Given the description of an element on the screen output the (x, y) to click on. 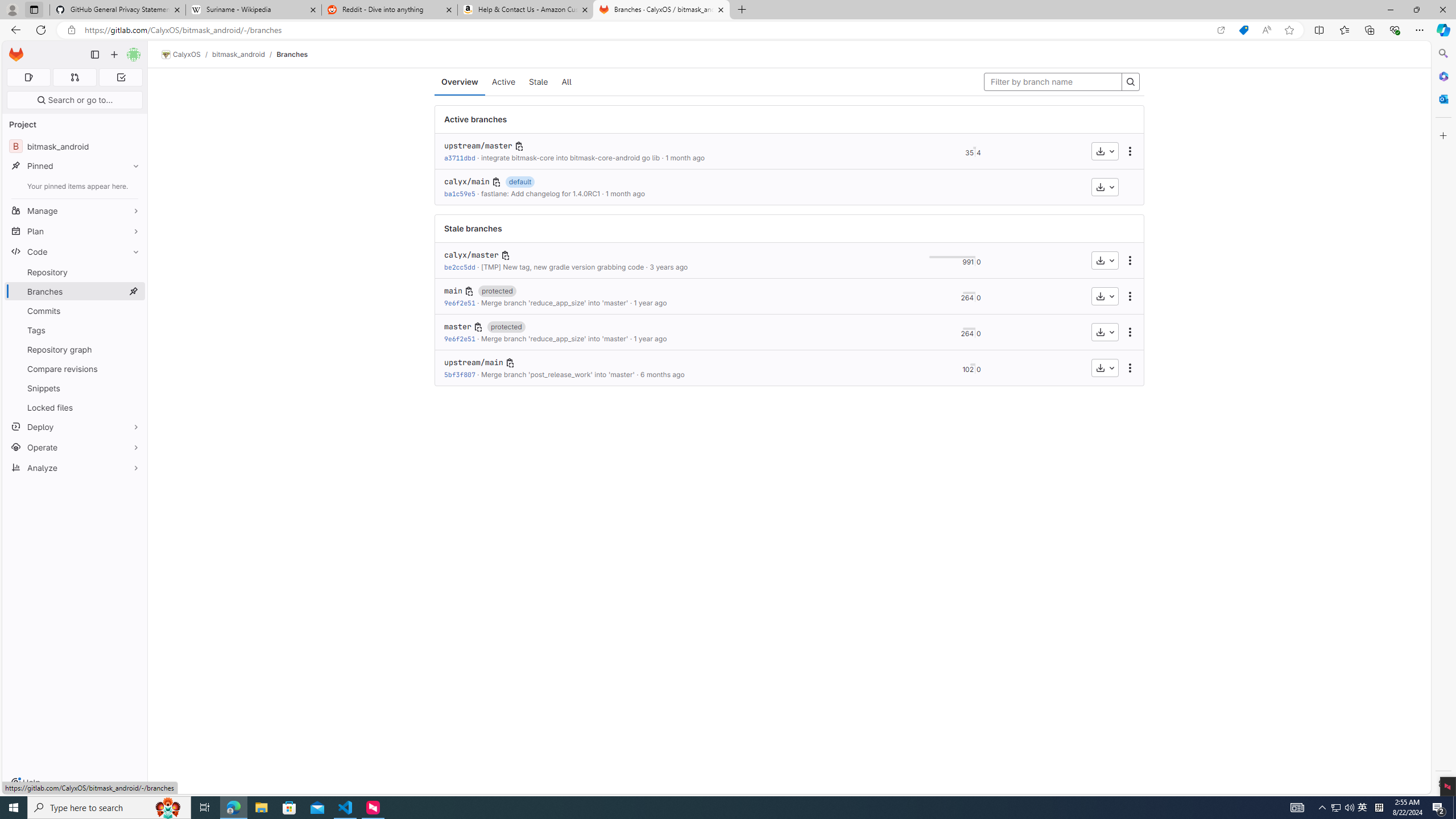
Repository graph (74, 348)
Back (13, 29)
be2cc5dd (460, 266)
Merge requests 0 (74, 76)
Pinned (74, 165)
upstream/main (473, 362)
calyx/master (471, 255)
Shopping in Microsoft Edge (1243, 29)
To-Do list 0 (120, 76)
Side bar (1443, 418)
Skip to main content (13, 49)
Favorites (1344, 29)
Stale (538, 81)
Locked files (74, 407)
Reddit - Dive into anything (390, 9)
